Given the description of an element on the screen output the (x, y) to click on. 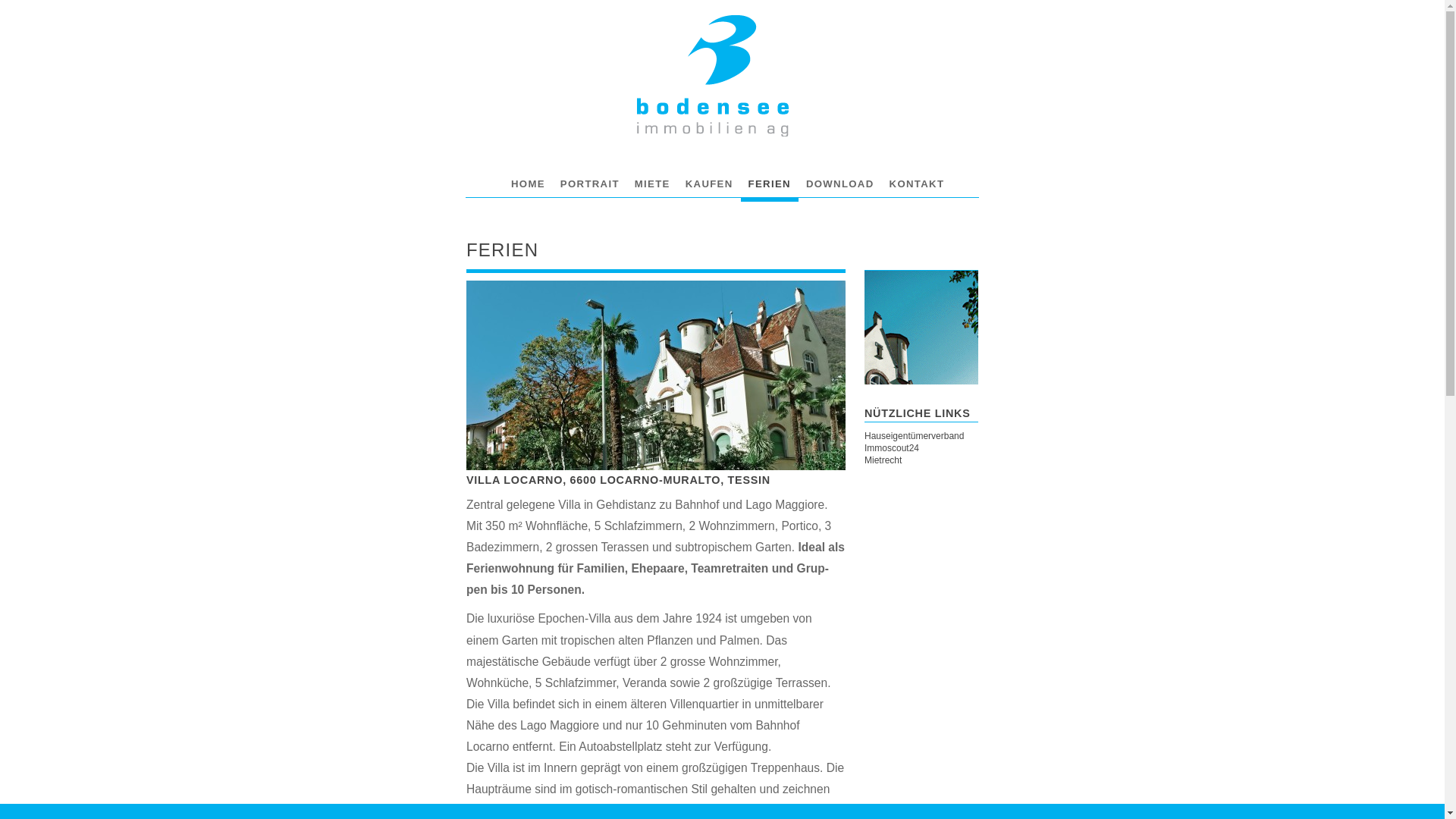
KAUFEN Element type: text (708, 183)
HOME Element type: text (527, 183)
banner_villalocarno Element type: hover (921, 327)
IMG_1458 Element type: hover (655, 375)
DOWNLOAD Element type: text (839, 183)
MIETE Element type: text (652, 183)
PORTRAIT Element type: text (589, 183)
Immoscout24 Element type: text (921, 448)
Mietrecht Element type: text (921, 460)
FERIEN Element type: text (769, 183)
Bodensee Immobilien AG Element type: text (712, 75)
KONTAKT Element type: text (916, 183)
